Given the description of an element on the screen output the (x, y) to click on. 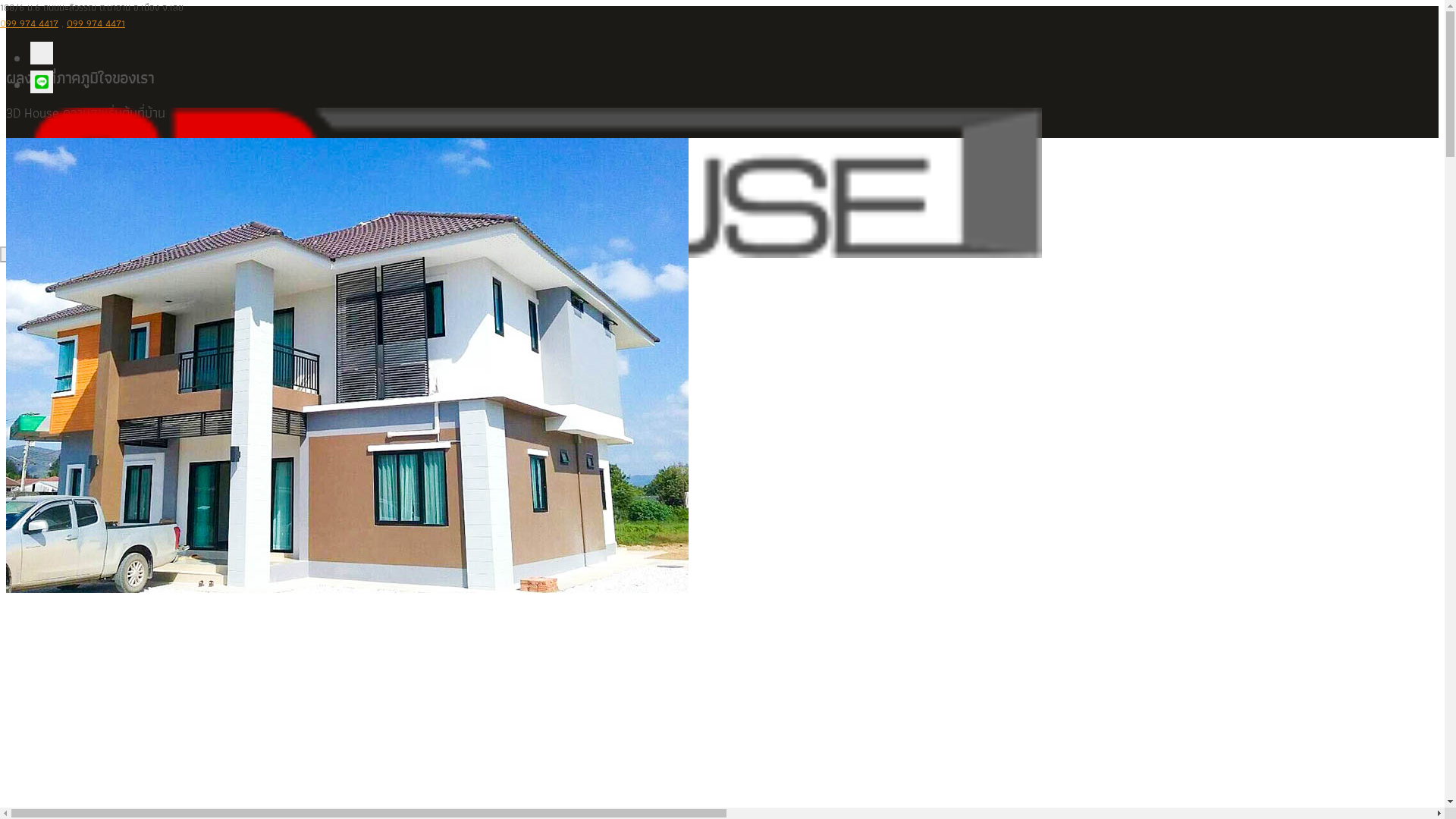
099 974 4471 Element type: text (95, 23)
099 974 4417 Element type: text (29, 23)
